Given the description of an element on the screen output the (x, y) to click on. 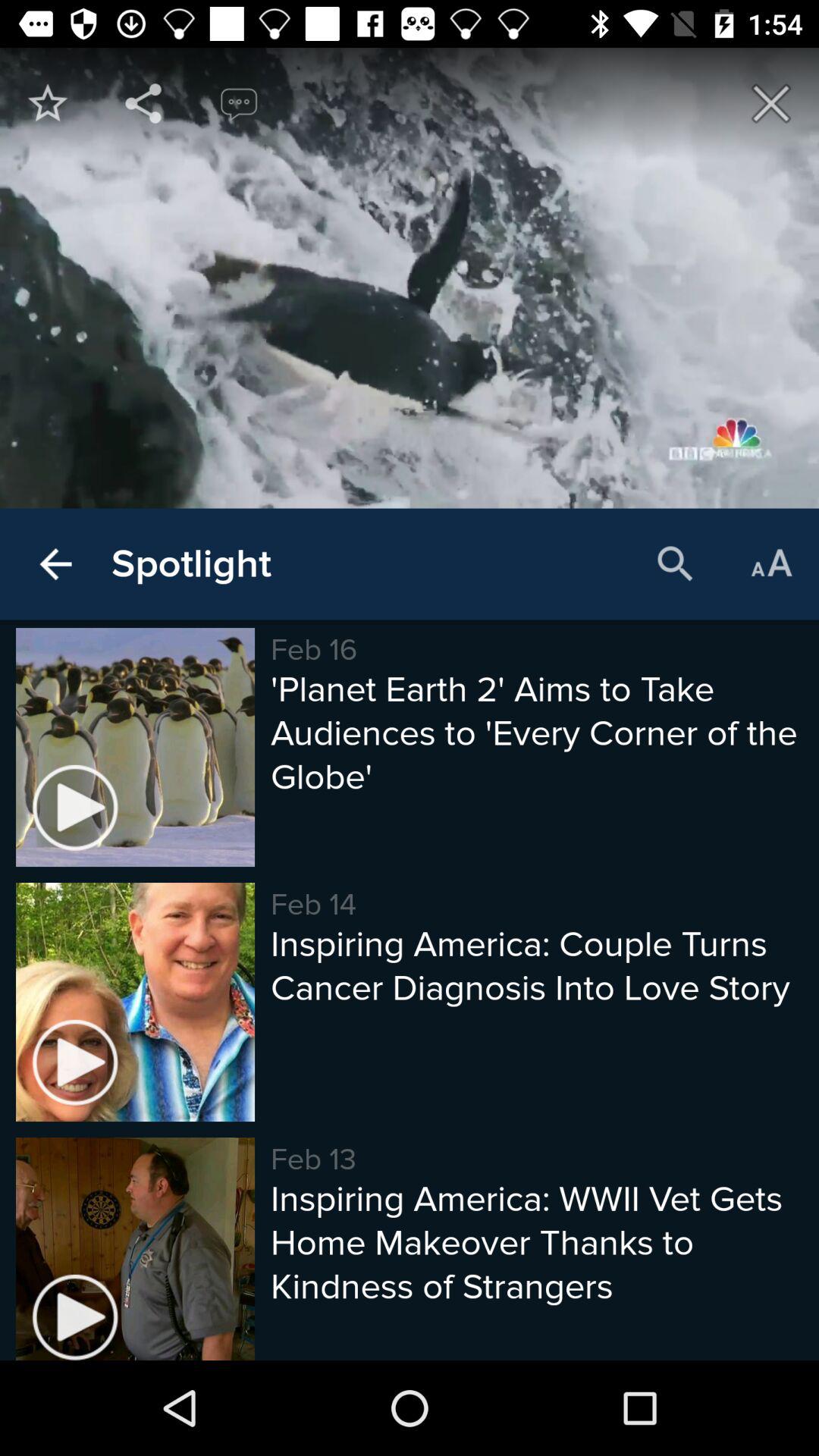
turn on item to the right of spotlight (675, 563)
